Given the description of an element on the screen output the (x, y) to click on. 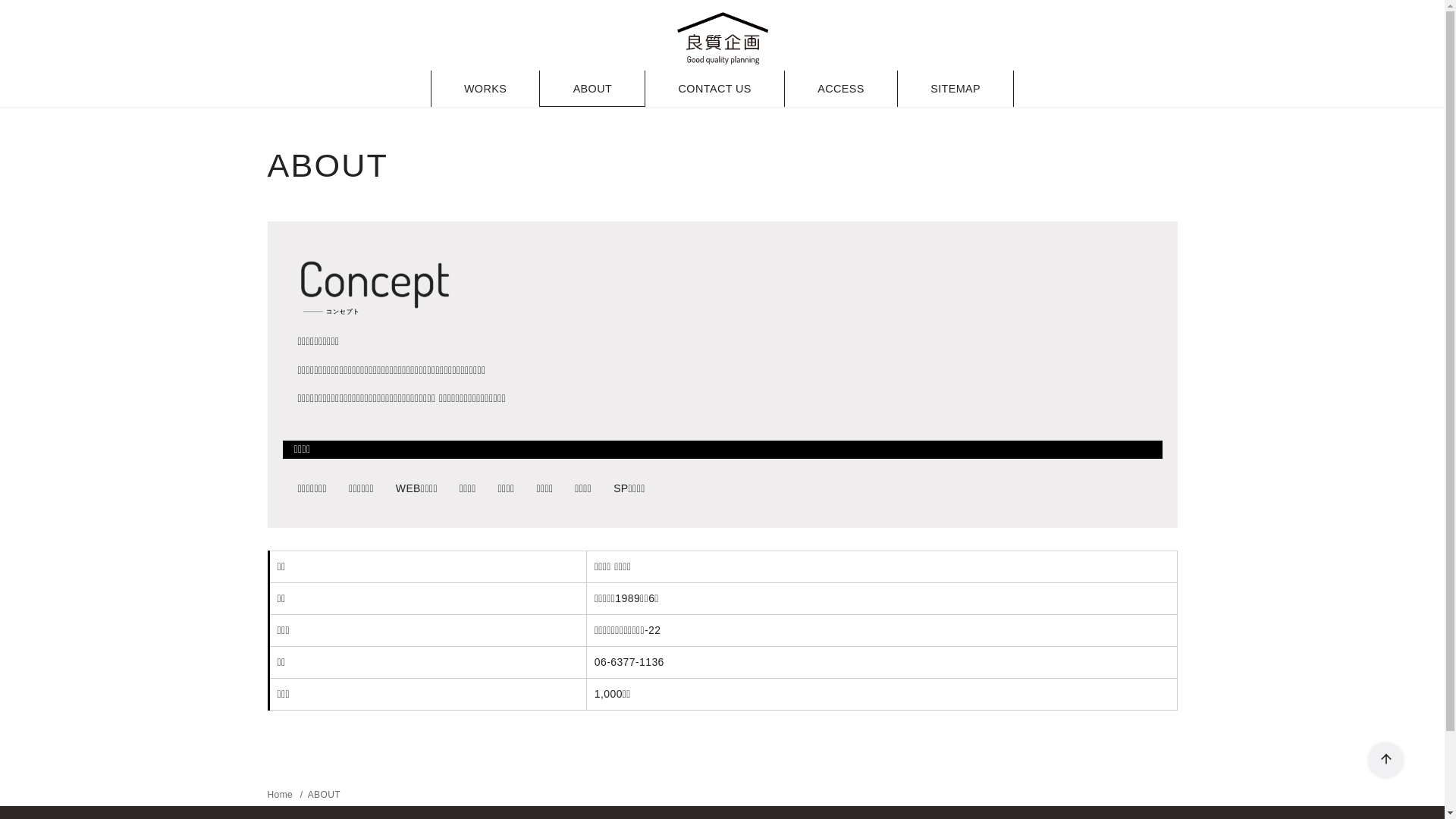
ACCESS Element type: text (840, 88)
SITEMAP Element type: text (955, 88)
CONTACT US Element type: text (714, 88)
ABOUT Element type: text (323, 794)
ABOUT Element type: text (591, 88)
Home Element type: text (280, 794)
WORKS Element type: text (484, 88)
